Given the description of an element on the screen output the (x, y) to click on. 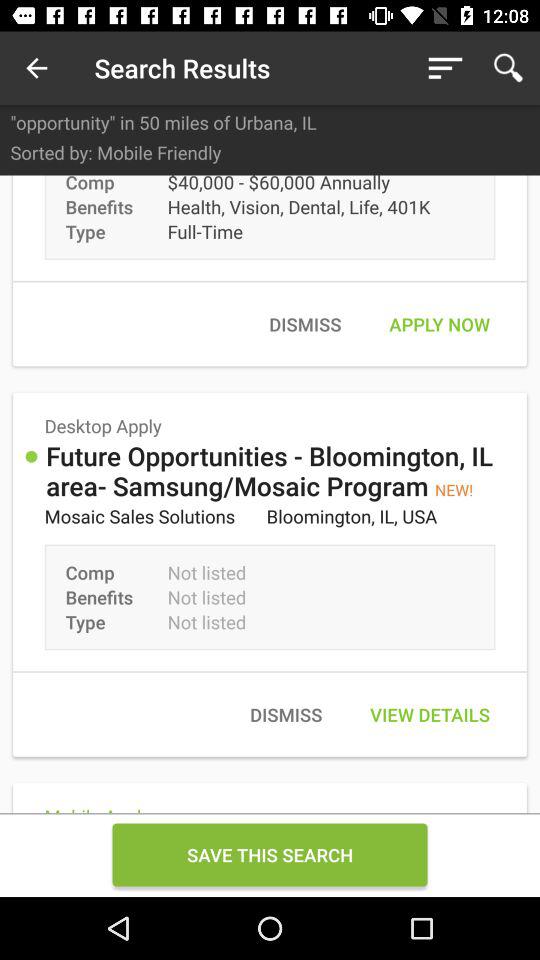
open the icon next to the search results (36, 68)
